Given the description of an element on the screen output the (x, y) to click on. 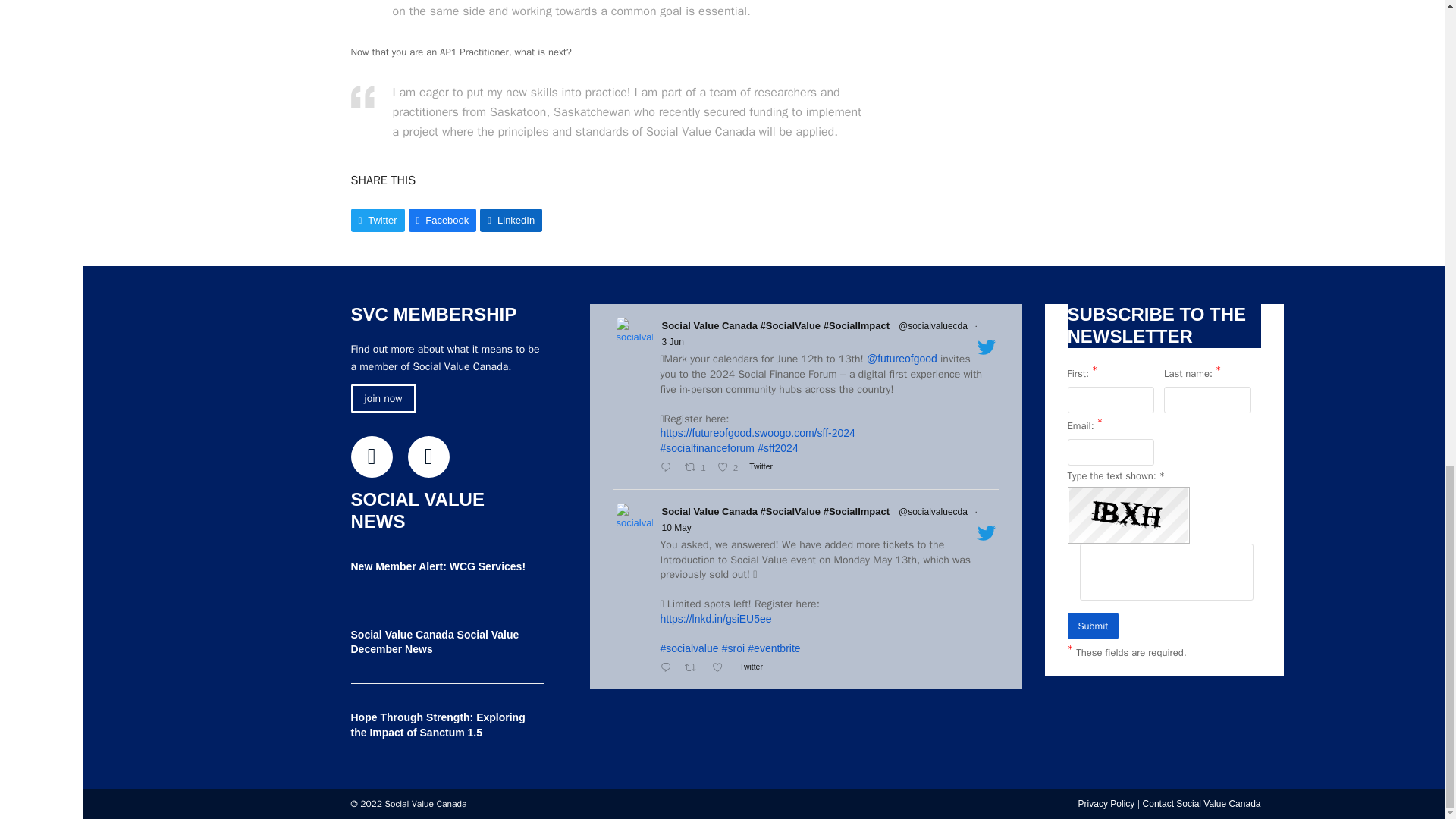
Submit (1093, 625)
LinkedIn (428, 456)
Twitter (370, 456)
